Given the description of an element on the screen output the (x, y) to click on. 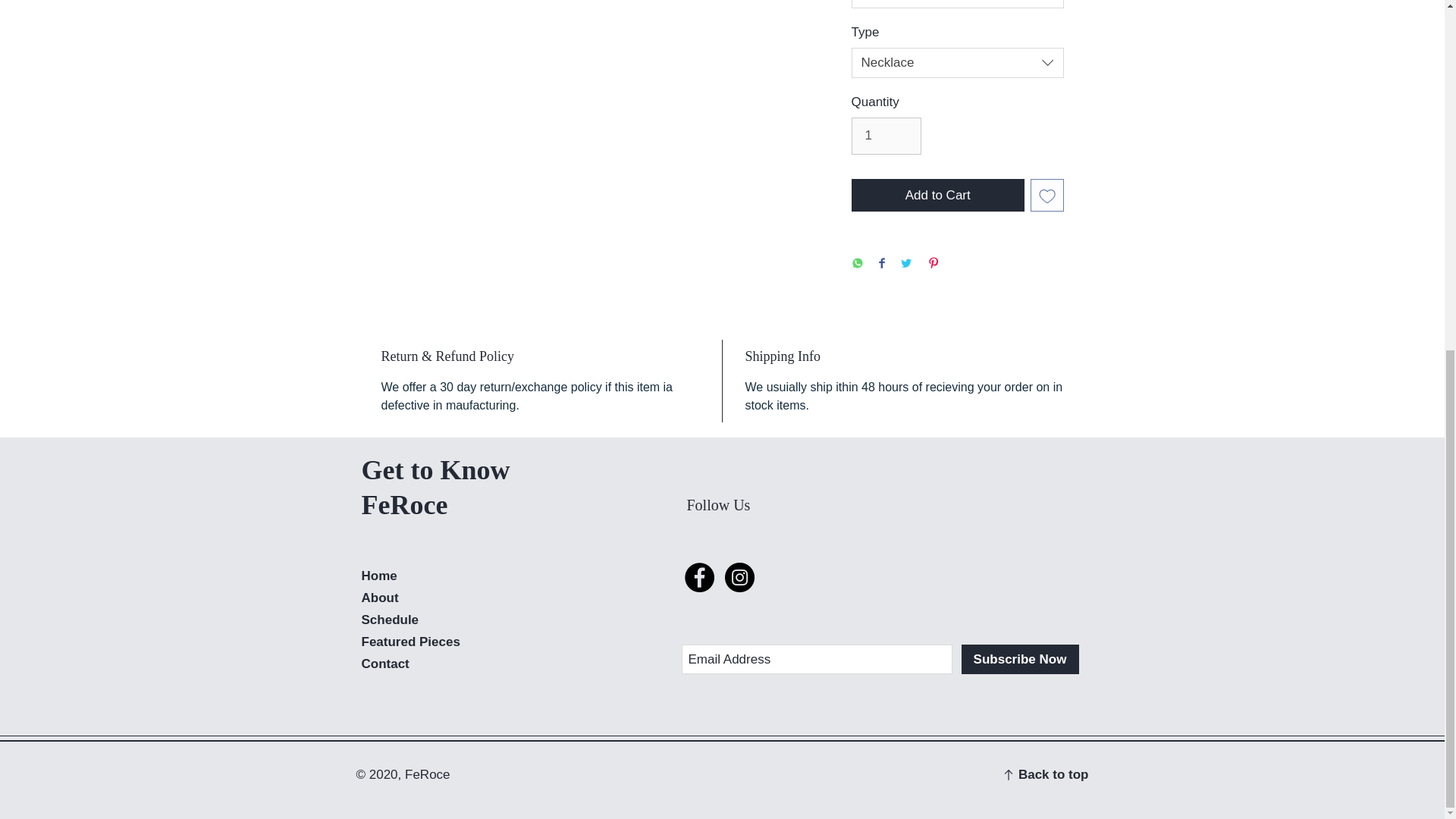
Back to top (1053, 774)
Featured Pieces (410, 641)
1 (885, 135)
18K Yellow Gold (956, 4)
Add to Cart (937, 195)
Necklace (956, 62)
Schedule (390, 619)
Home (378, 575)
About (379, 597)
Contact (385, 663)
Subscribe Now (1019, 659)
